Given the description of an element on the screen output the (x, y) to click on. 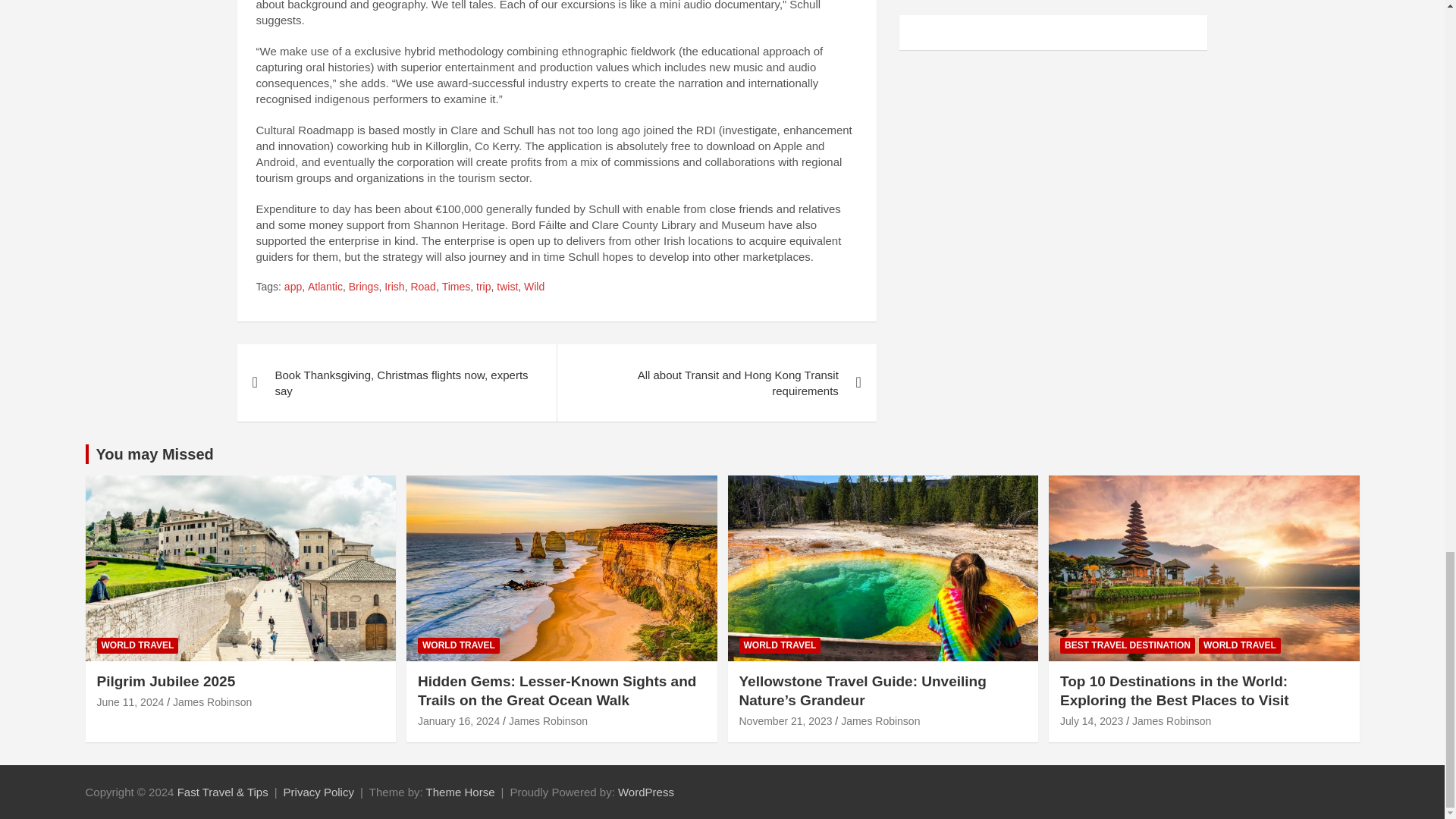
WordPress (645, 791)
trip (483, 287)
Theme Horse (460, 791)
twist (507, 287)
Times (456, 287)
Irish (394, 287)
Pilgrim Jubilee 2025 (130, 702)
Brings (363, 287)
Road (422, 287)
All about Transit and Hong Kong Transit requirements (716, 382)
Wild (534, 287)
Book Thanksgiving, Christmas flights now, experts say (395, 382)
app (292, 287)
